Given the description of an element on the screen output the (x, y) to click on. 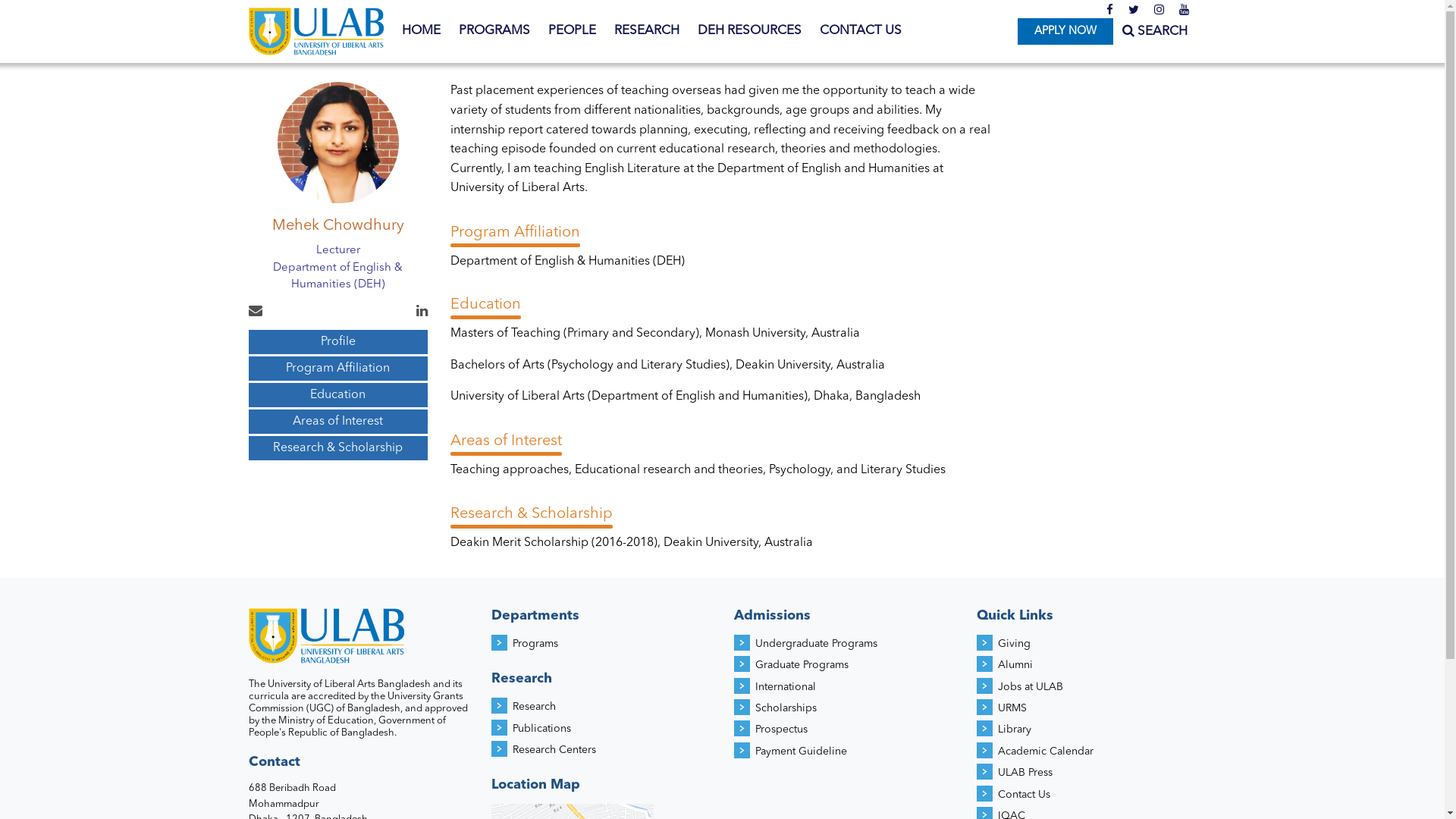
Academic Calendar Element type: text (1045, 751)
PROGRAMS Element type: text (493, 30)
DEH RESOURCES Element type: text (749, 30)
Programs Element type: text (535, 643)
Giving Element type: text (1013, 643)
Research Element type: text (533, 706)
APPLY NOW Element type: text (1064, 31)
RESEARCH Element type: text (646, 30)
Skip to main content Element type: text (61, 0)
CONTACT US Element type: text (859, 30)
Education Element type: text (338, 394)
Payment Guideline Element type: text (801, 751)
Program Affiliation Element type: text (338, 368)
HOME Element type: text (420, 30)
Areas of Interest Element type: text (338, 421)
Publications Element type: text (541, 728)
ULAB Press Element type: text (1024, 772)
International Element type: text (785, 686)
Jobs at ULAB Element type: text (1030, 686)
Undergraduate Programs Element type: text (816, 643)
URMS Element type: text (1011, 707)
Graduate Programs Element type: text (801, 664)
Prospectus Element type: text (781, 729)
PEOPLE Element type: text (571, 30)
Research Centers Element type: text (554, 749)
Research & Scholarship Element type: text (338, 448)
SEARCH Element type: text (1154, 31)
Scholarships Element type: text (785, 707)
Alumni Element type: text (1014, 664)
Profile Element type: text (338, 341)
Contact Us Element type: text (1023, 794)
Library Element type: text (1014, 729)
